Given the description of an element on the screen output the (x, y) to click on. 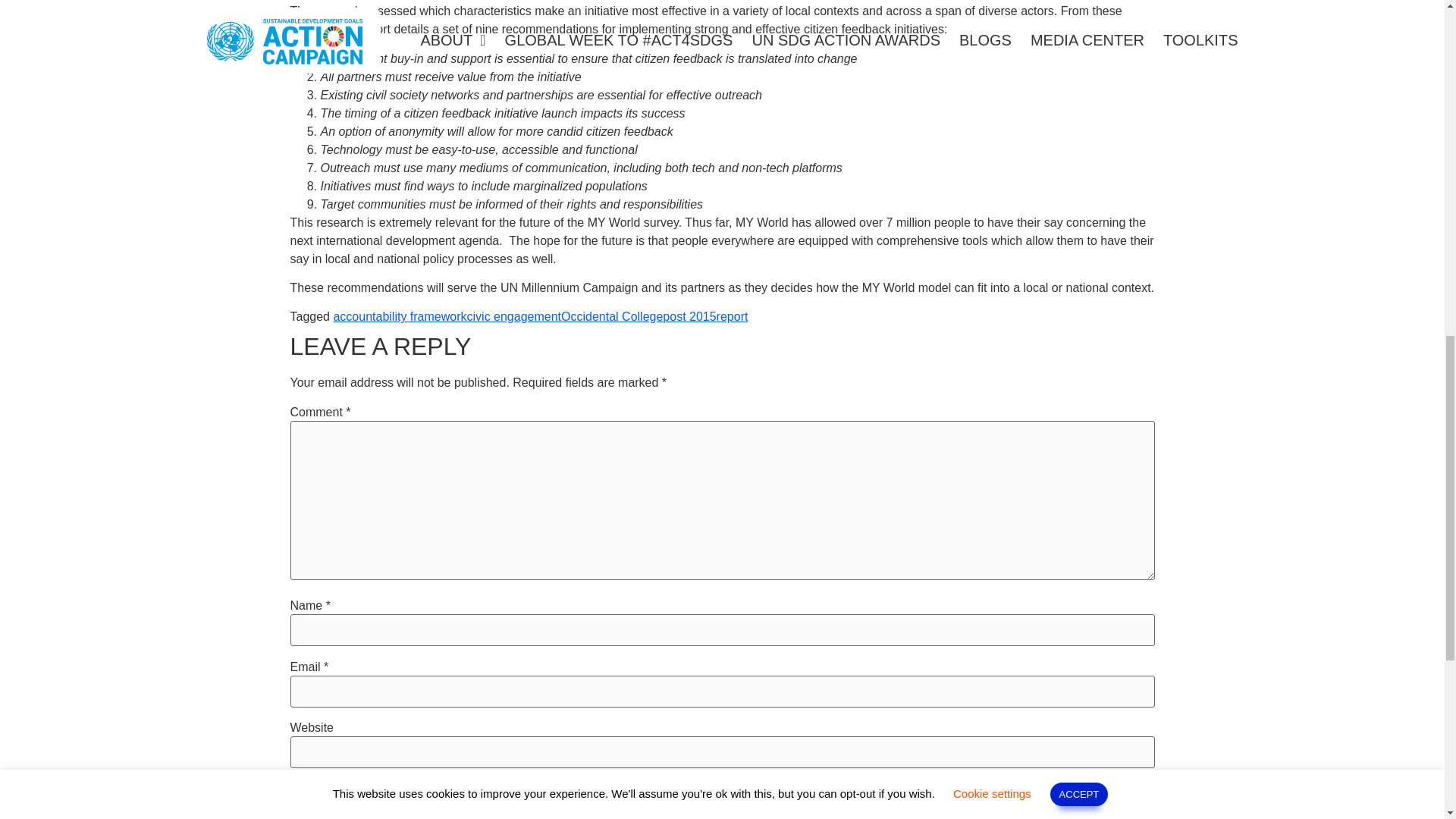
yes (294, 787)
Post Comment (351, 813)
